Given the description of an element on the screen output the (x, y) to click on. 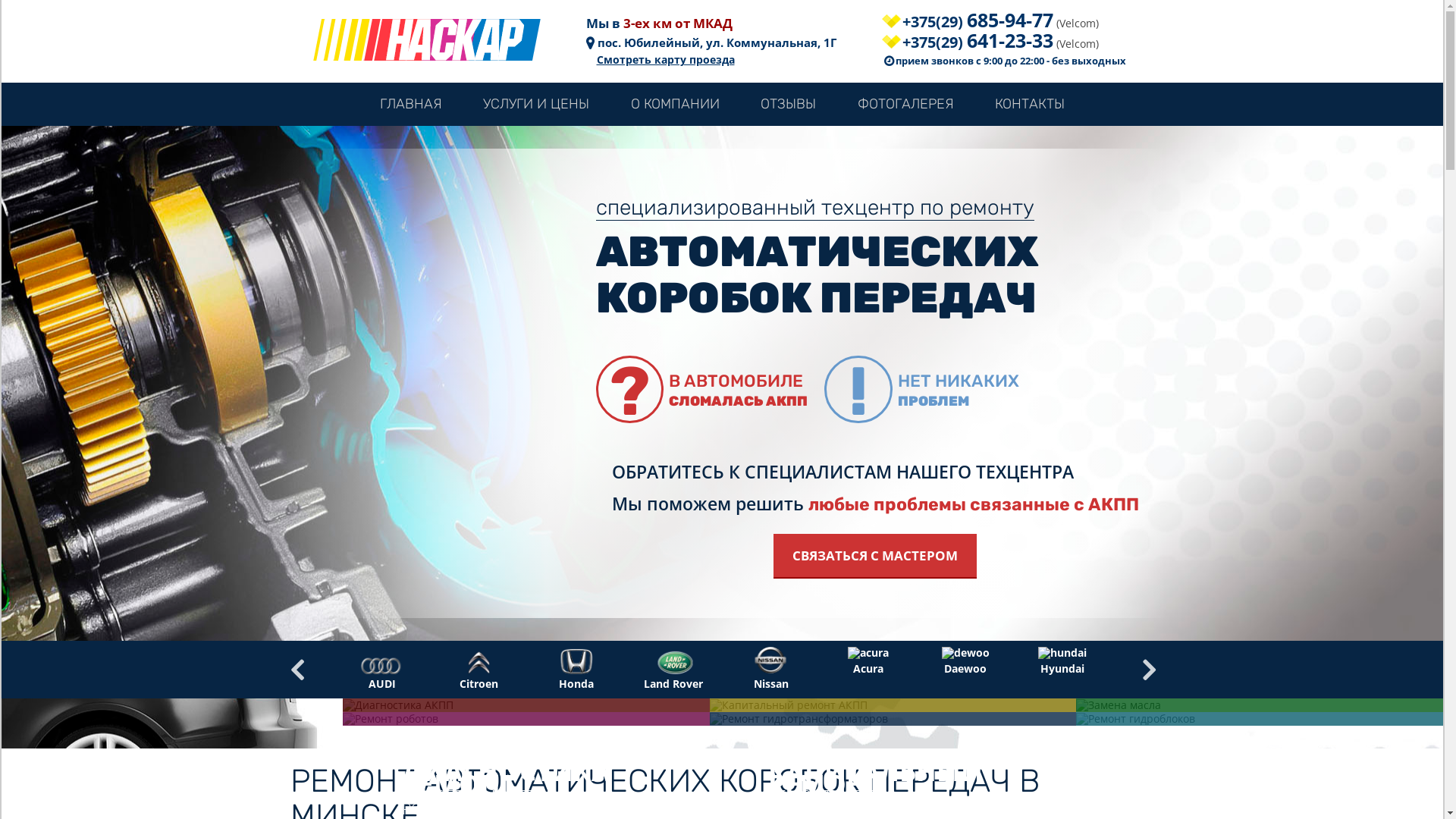
Hyundai Element type: text (1062, 651)
Acura Element type: text (867, 651)
Nissan Element type: text (770, 658)
+375(29) 641-23-33 Element type: text (967, 40)
Honda Element type: text (576, 658)
AUDI Element type: text (381, 658)
Citroen Element type: text (478, 658)
Land Rover Element type: text (673, 658)
Daewoo Element type: text (965, 651)
+375(29) 685-94-77 Element type: text (967, 19)
